Given the description of an element on the screen output the (x, y) to click on. 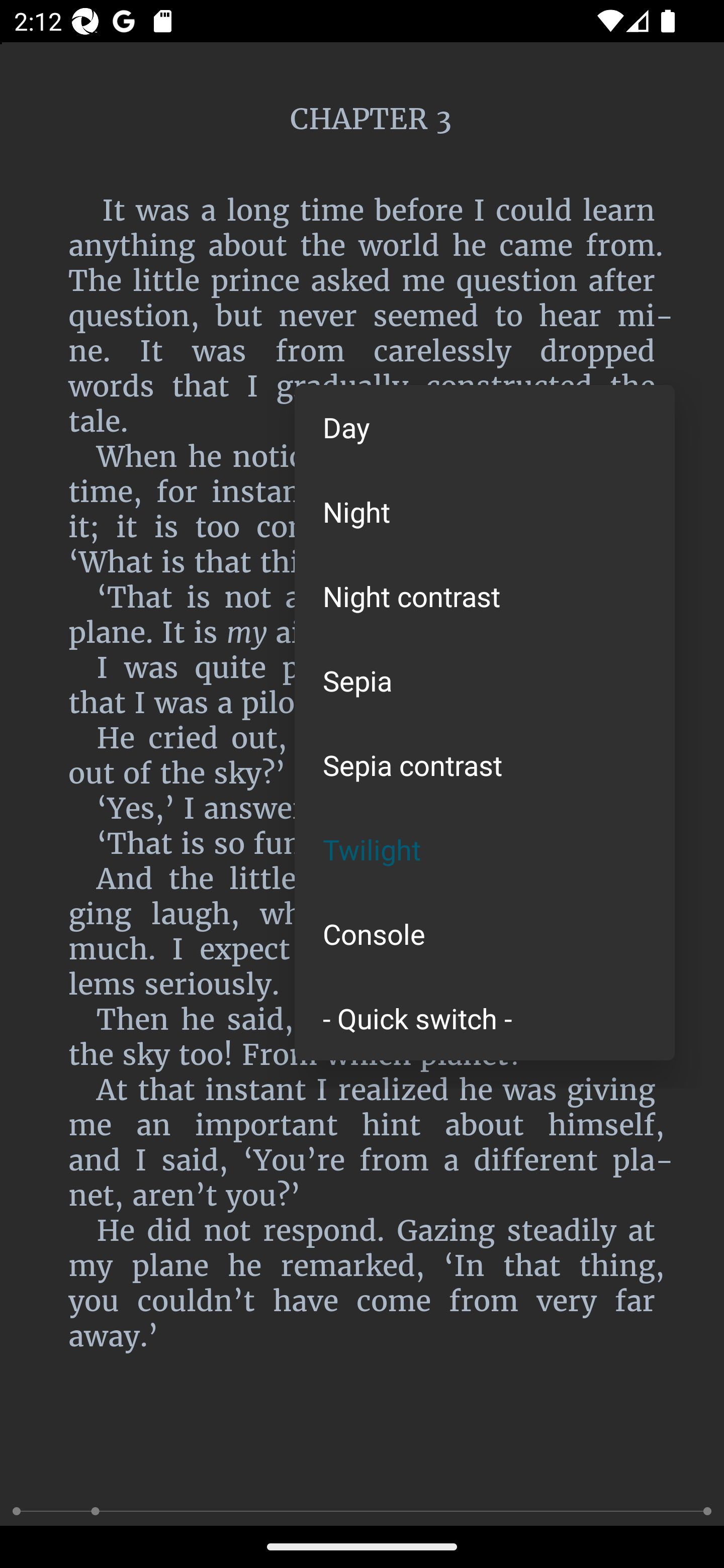
Day (484, 426)
Night (484, 510)
Night contrast (484, 595)
Sepia (484, 680)
Sepia contrast (484, 764)
Twilight (484, 849)
Console (484, 933)
- Quick switch - (484, 1017)
